Given the description of an element on the screen output the (x, y) to click on. 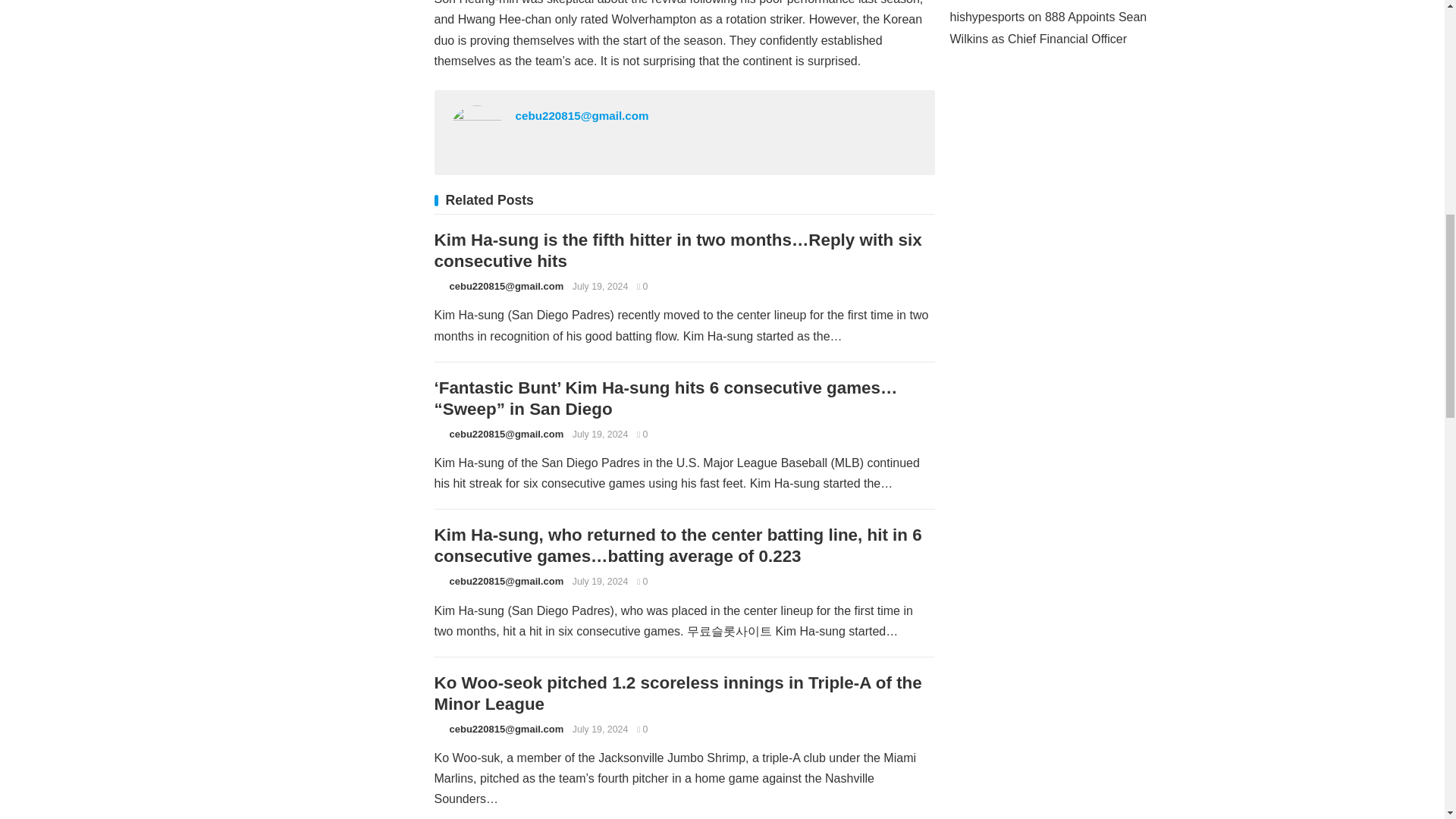
0 (642, 728)
0 (642, 581)
0 (642, 286)
0 (642, 434)
